Given the description of an element on the screen output the (x, y) to click on. 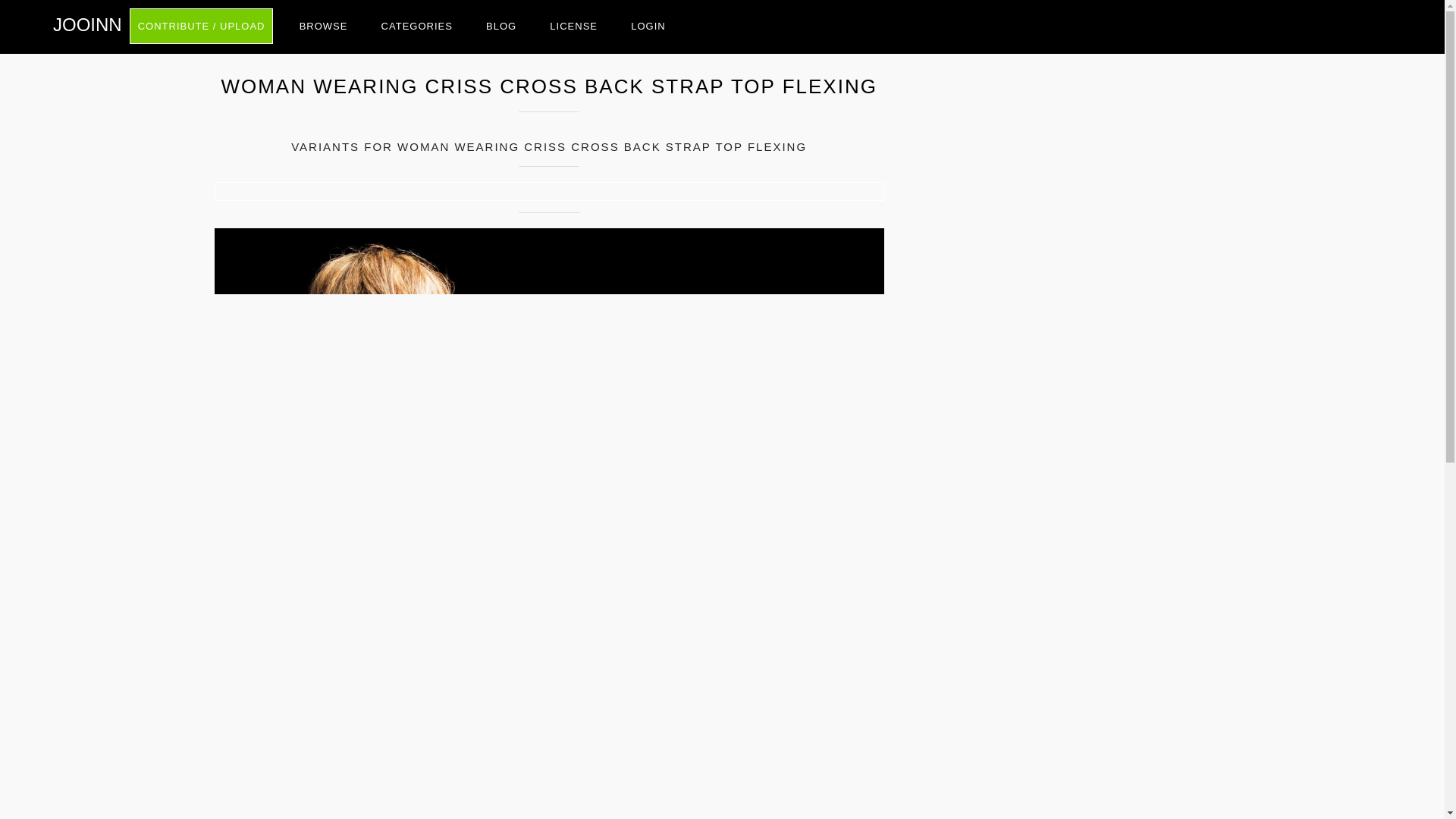
CATEGORIES (417, 26)
LOGIN (647, 26)
BLOG (501, 26)
Woman Wearing Criss Cross Back Strap Top Flexing (548, 190)
JOOINN (87, 24)
Free photo (87, 24)
BROWSE (323, 26)
LICENSE (573, 26)
